Given the description of an element on the screen output the (x, y) to click on. 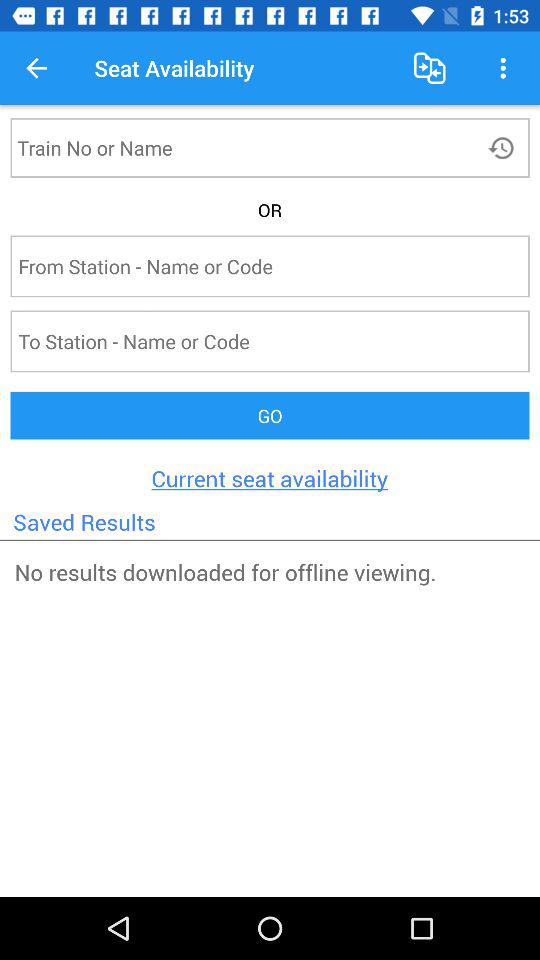
select icon next to seat availability item (36, 68)
